Given the description of an element on the screen output the (x, y) to click on. 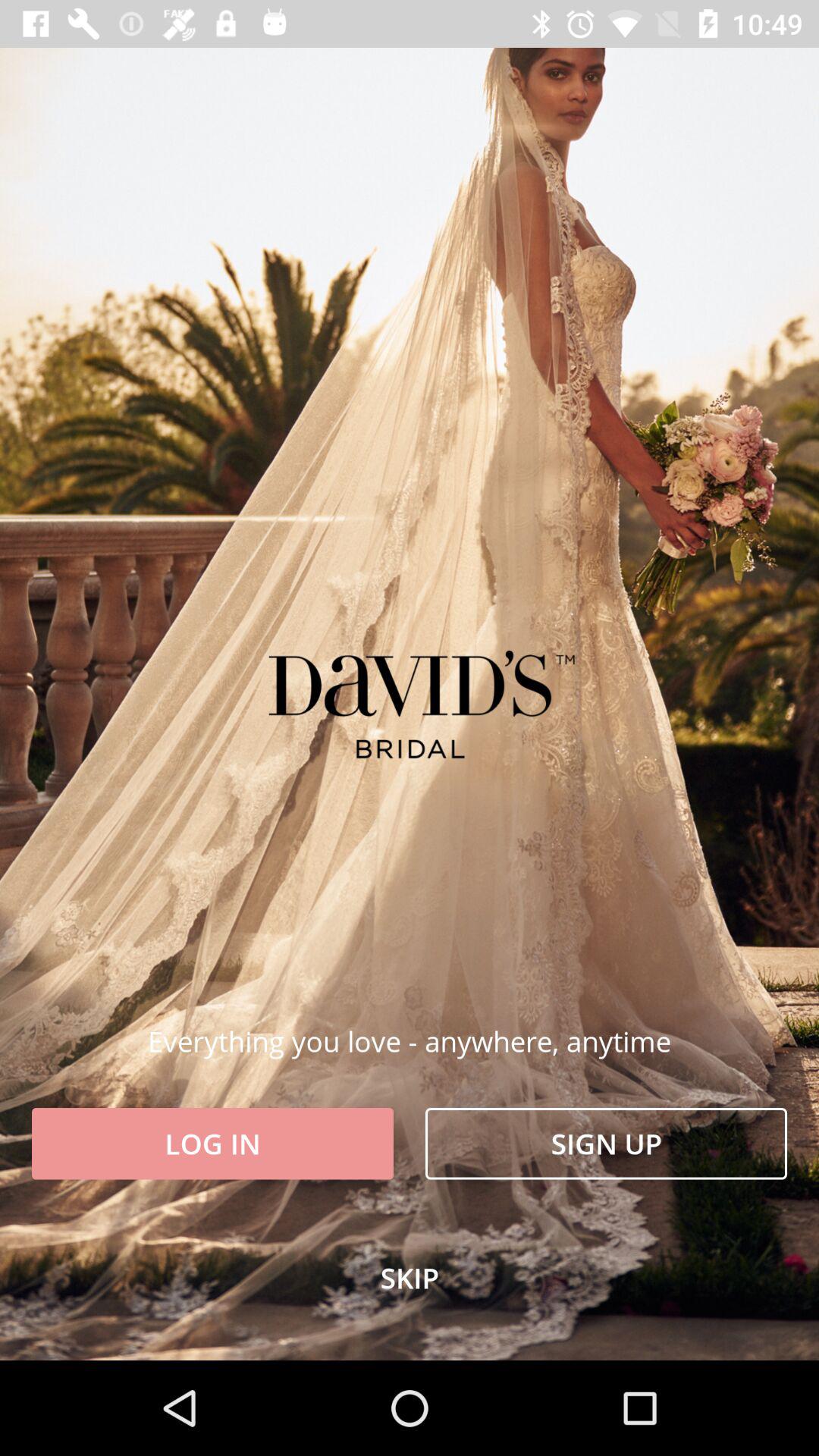
swipe until the log in (212, 1143)
